Given the description of an element on the screen output the (x, y) to click on. 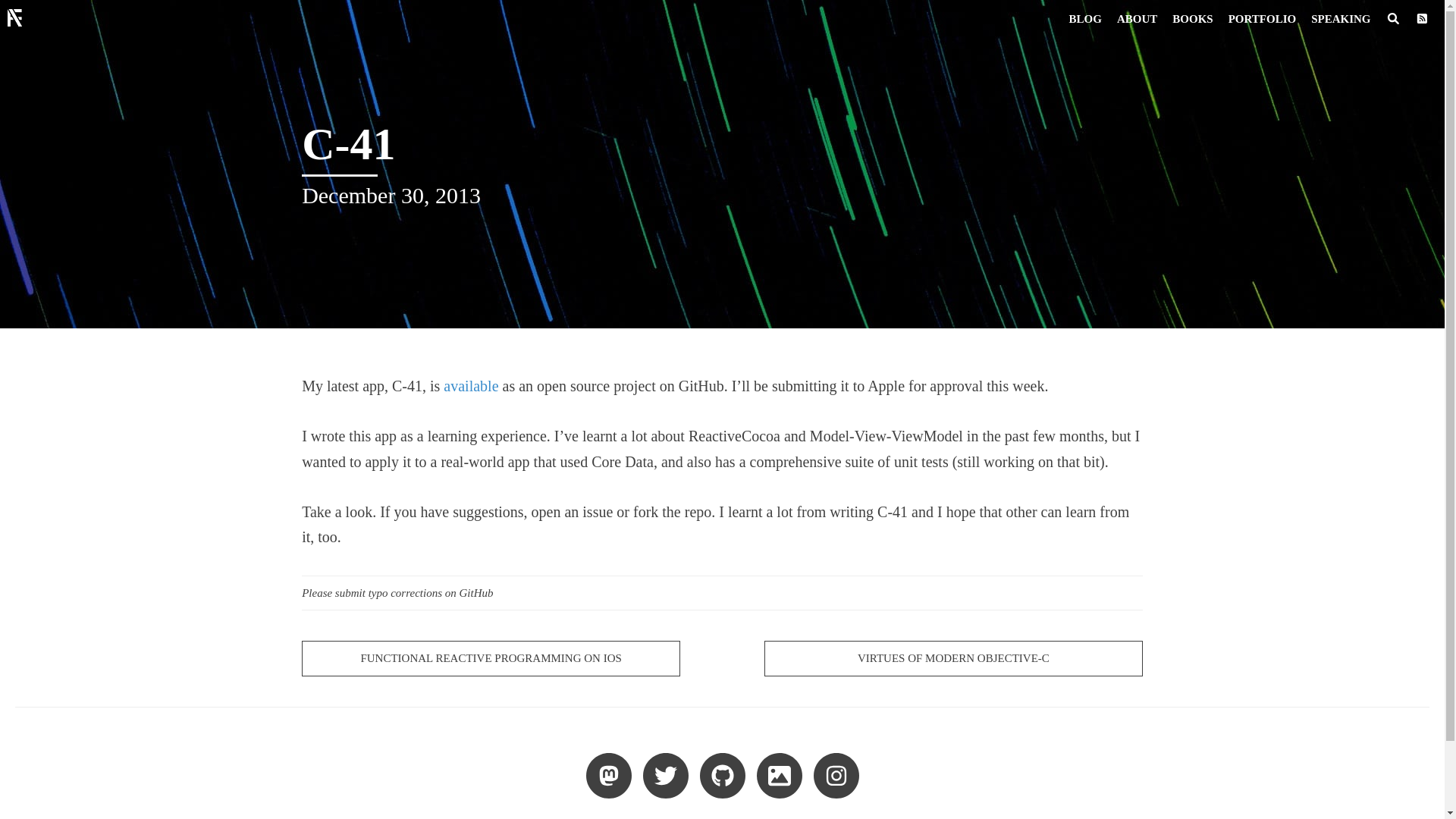
Please submit typo corrections on GitHub (721, 592)
available (470, 385)
PORTFOLIO (1262, 18)
BOOKS (1192, 18)
BLOG (1085, 18)
ABOUT (1136, 18)
SPEAKING (1340, 18)
